Given the description of an element on the screen output the (x, y) to click on. 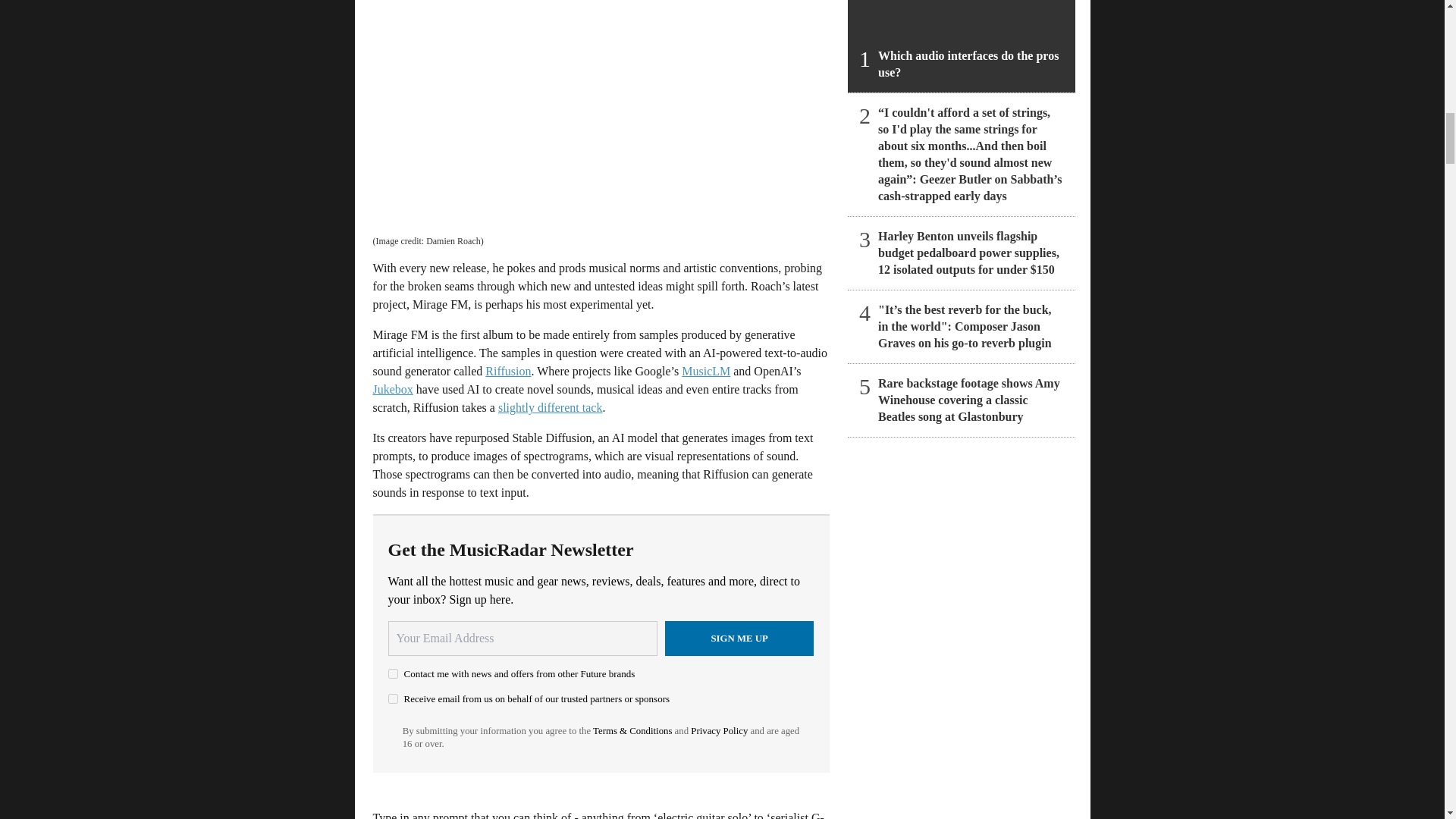
on (392, 698)
Sign me up (739, 638)
Which audio interfaces do the pros use? (961, 46)
on (392, 673)
